Given the description of an element on the screen output the (x, y) to click on. 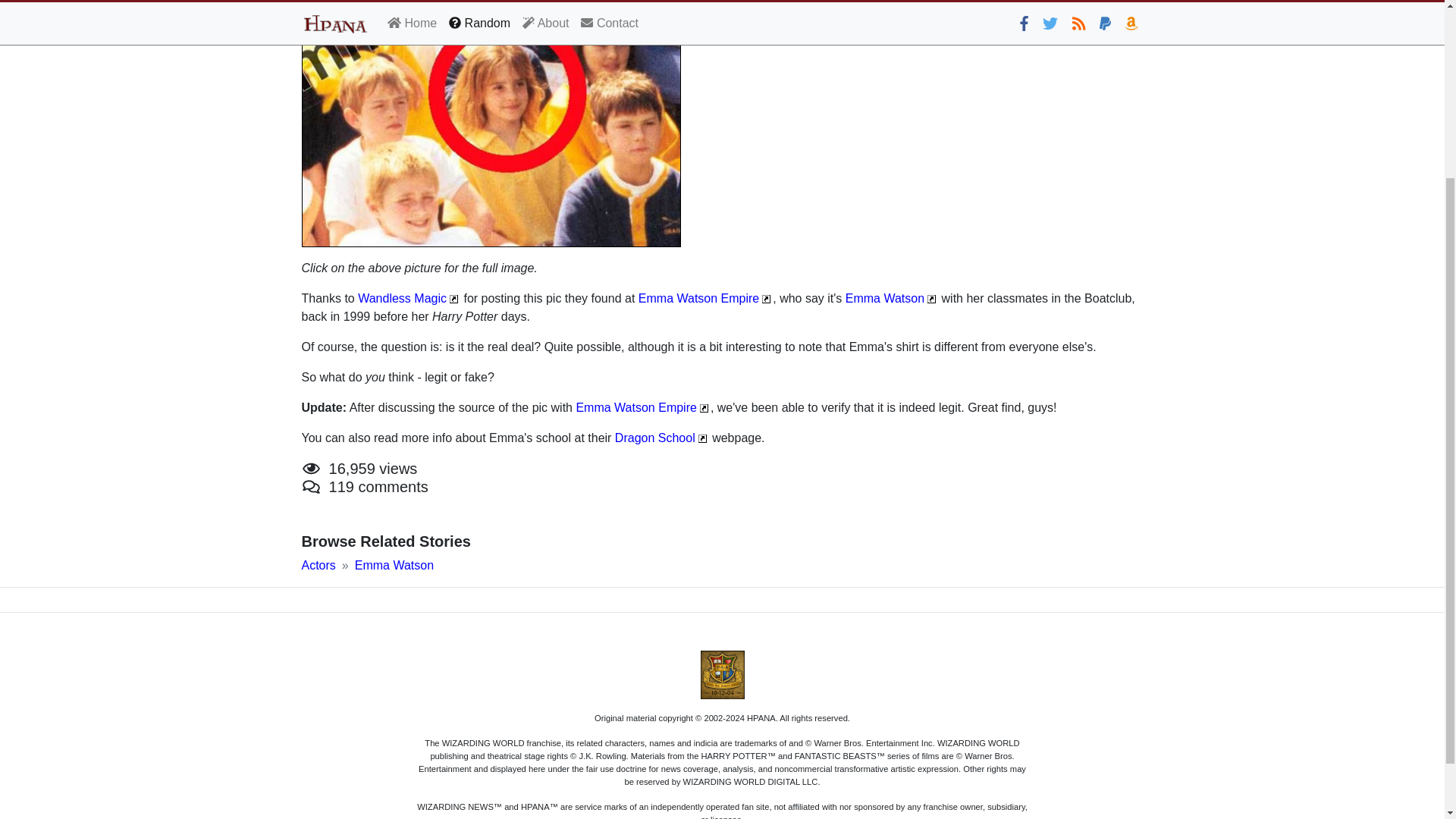
Emma Watson (394, 564)
The Dragon School; Emma Watson Empire (654, 437)
Actors (318, 564)
Emma Watson Empire (635, 407)
Wandless Magic (402, 297)
Emma Watson Empire (698, 297)
Dragon School (654, 437)
HPANA is the recipient of J.K. Rowling's Fan Site Award (722, 674)
Advertisement (1003, 86)
Emma Watson Empire (698, 297)
